Given the description of an element on the screen output the (x, y) to click on. 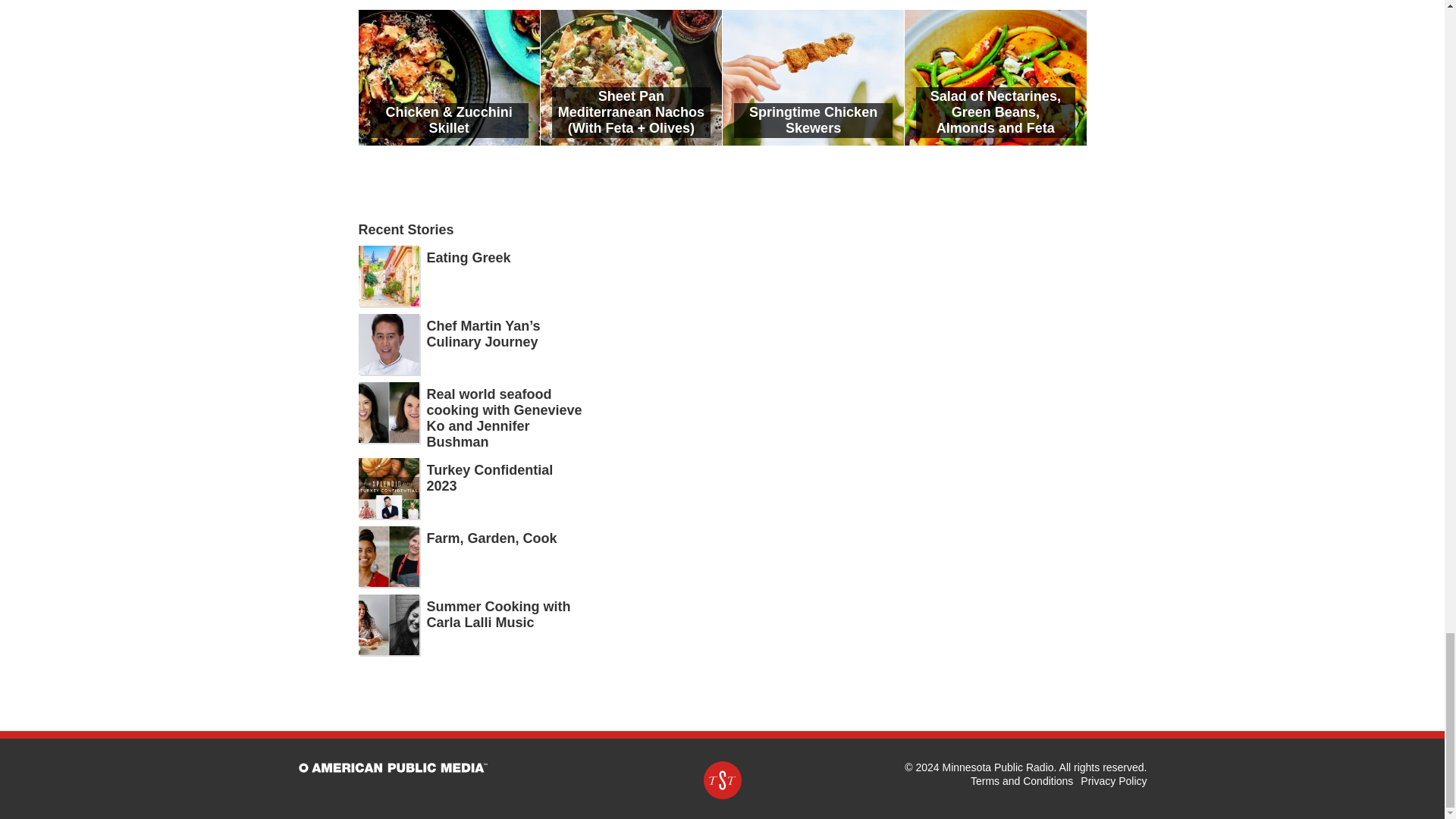
Salad of Nectarines, Green Beans, Almonds and Feta (995, 77)
Springtime Chicken Skewers (813, 77)
